Given the description of an element on the screen output the (x, y) to click on. 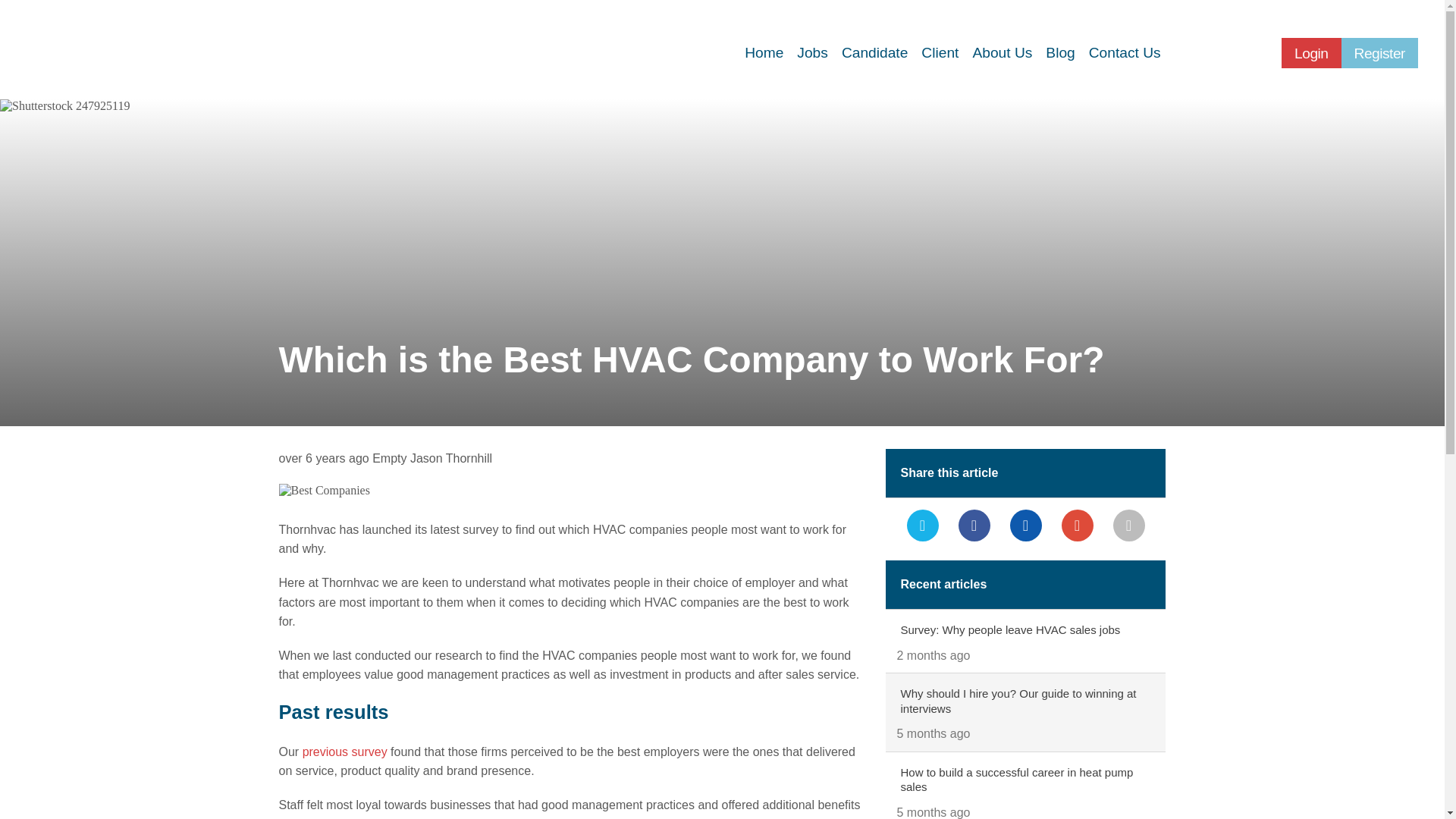
Client (939, 53)
Thornhvac (135, 48)
previous survey (344, 751)
Email (1128, 525)
Home (764, 53)
GooglePlus (1077, 525)
Go to the Homepage (135, 48)
Login (1310, 52)
About Us (1002, 53)
Facebook (974, 525)
Candidate (874, 53)
Linkedin (1026, 525)
Blog (1060, 53)
Register (1379, 52)
Contact Us (1124, 53)
